Given the description of an element on the screen output the (x, y) to click on. 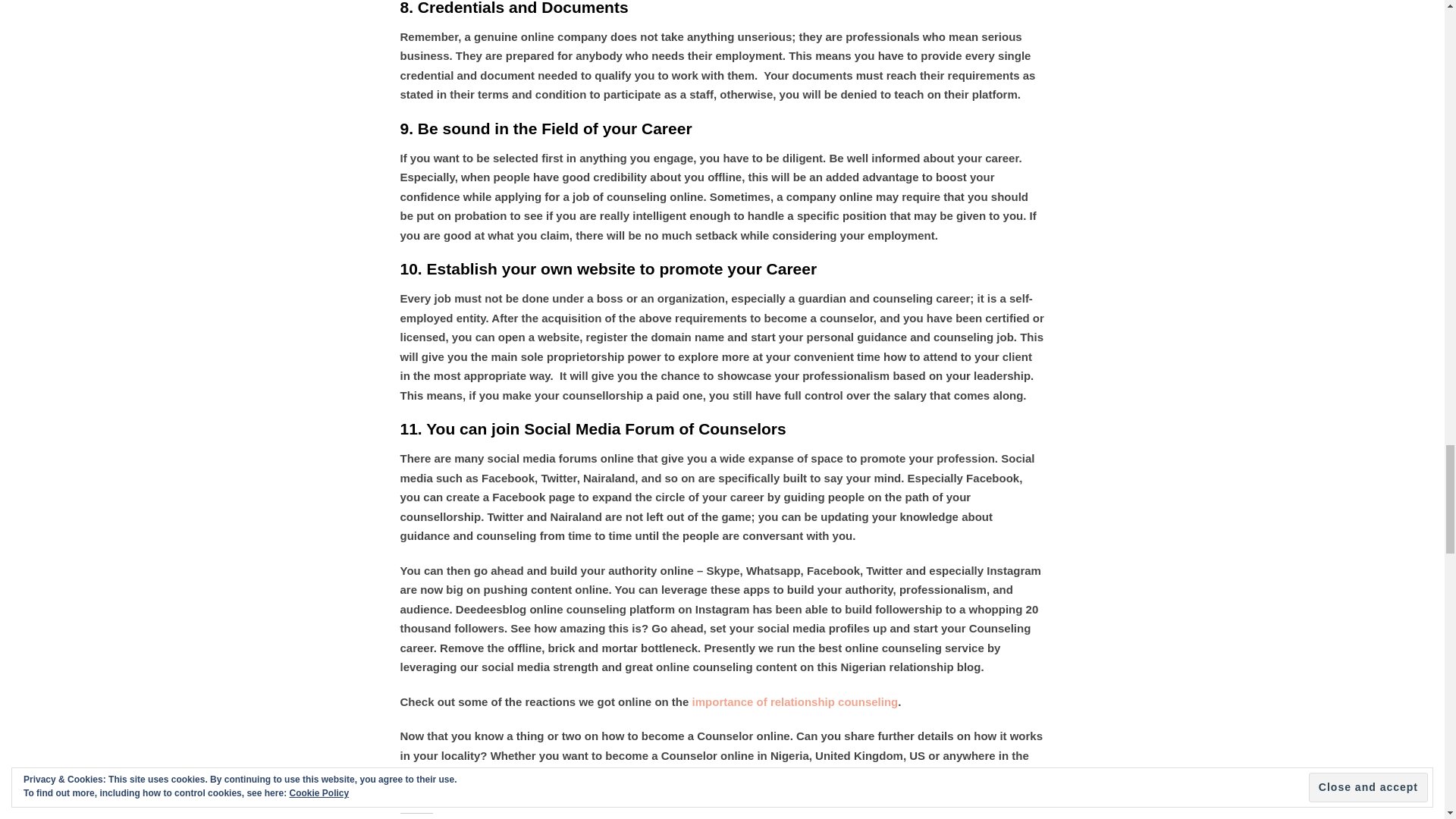
importance of relationship counseling (795, 701)
